Given the description of an element on the screen output the (x, y) to click on. 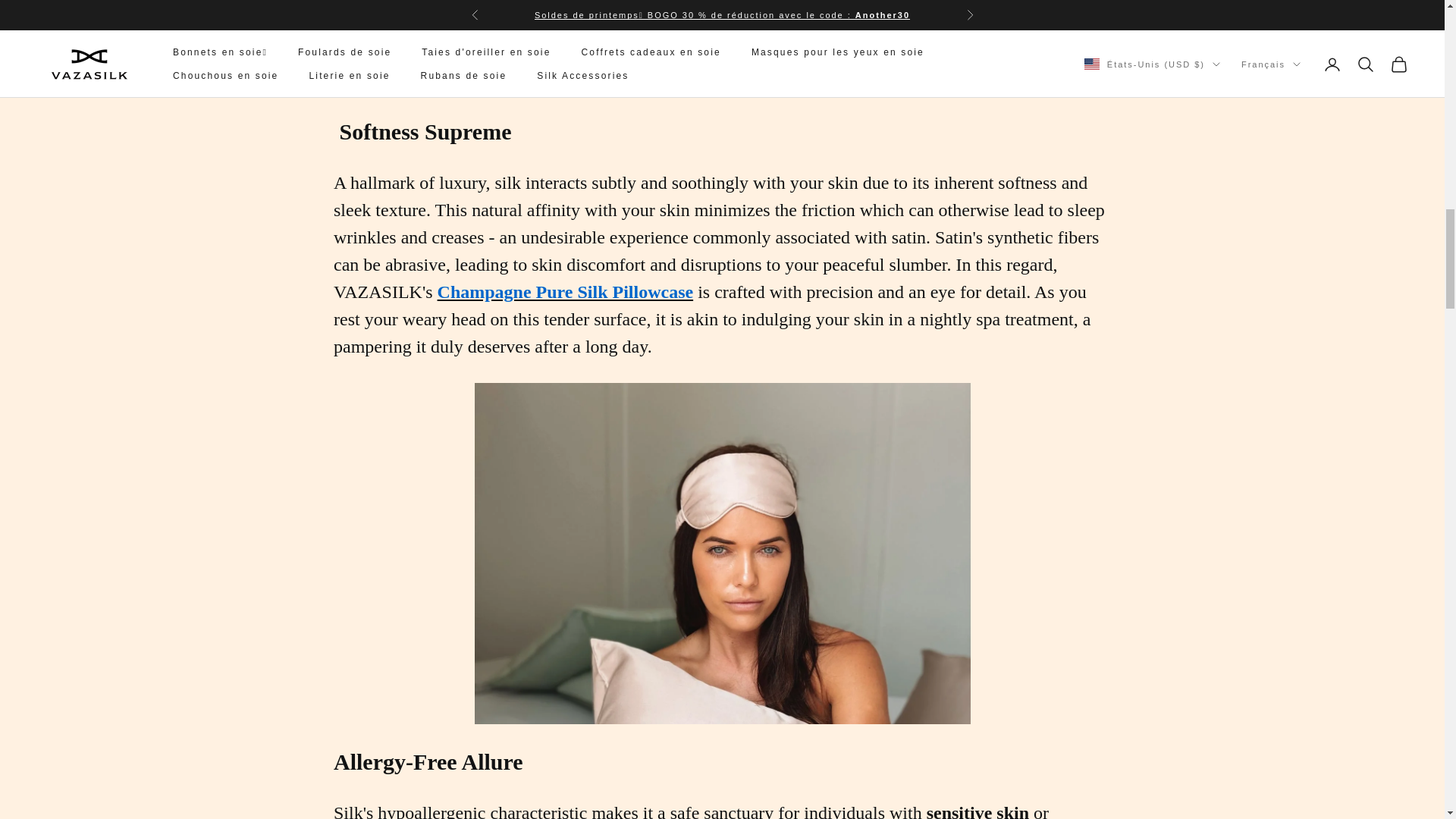
VAZA Silk Sleep Mask (722, 37)
